Given the description of an element on the screen output the (x, y) to click on. 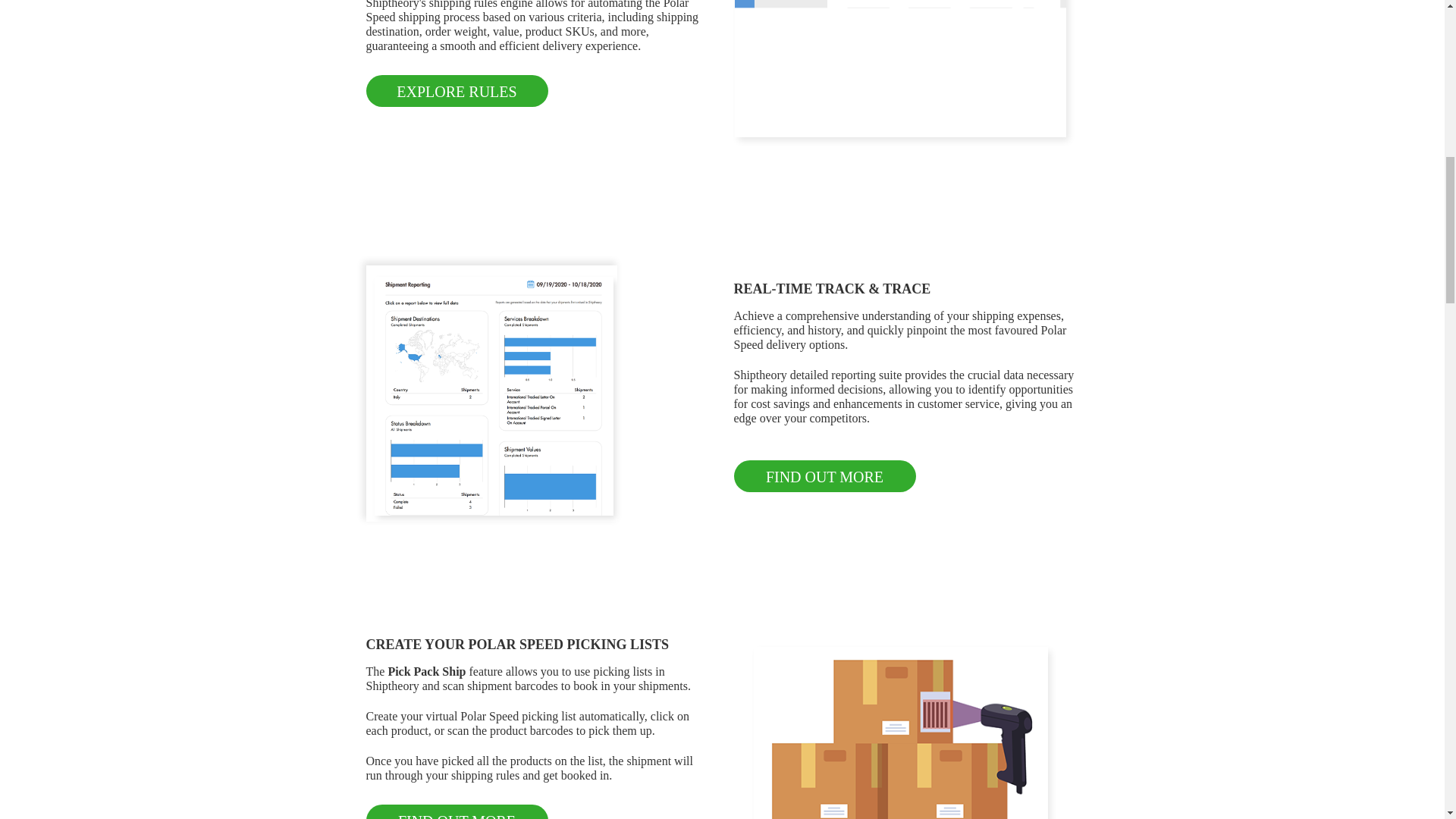
EXPLORE RULES (456, 91)
FIND OUT MORE (456, 811)
FIND OUT MORE (824, 475)
